Given the description of an element on the screen output the (x, y) to click on. 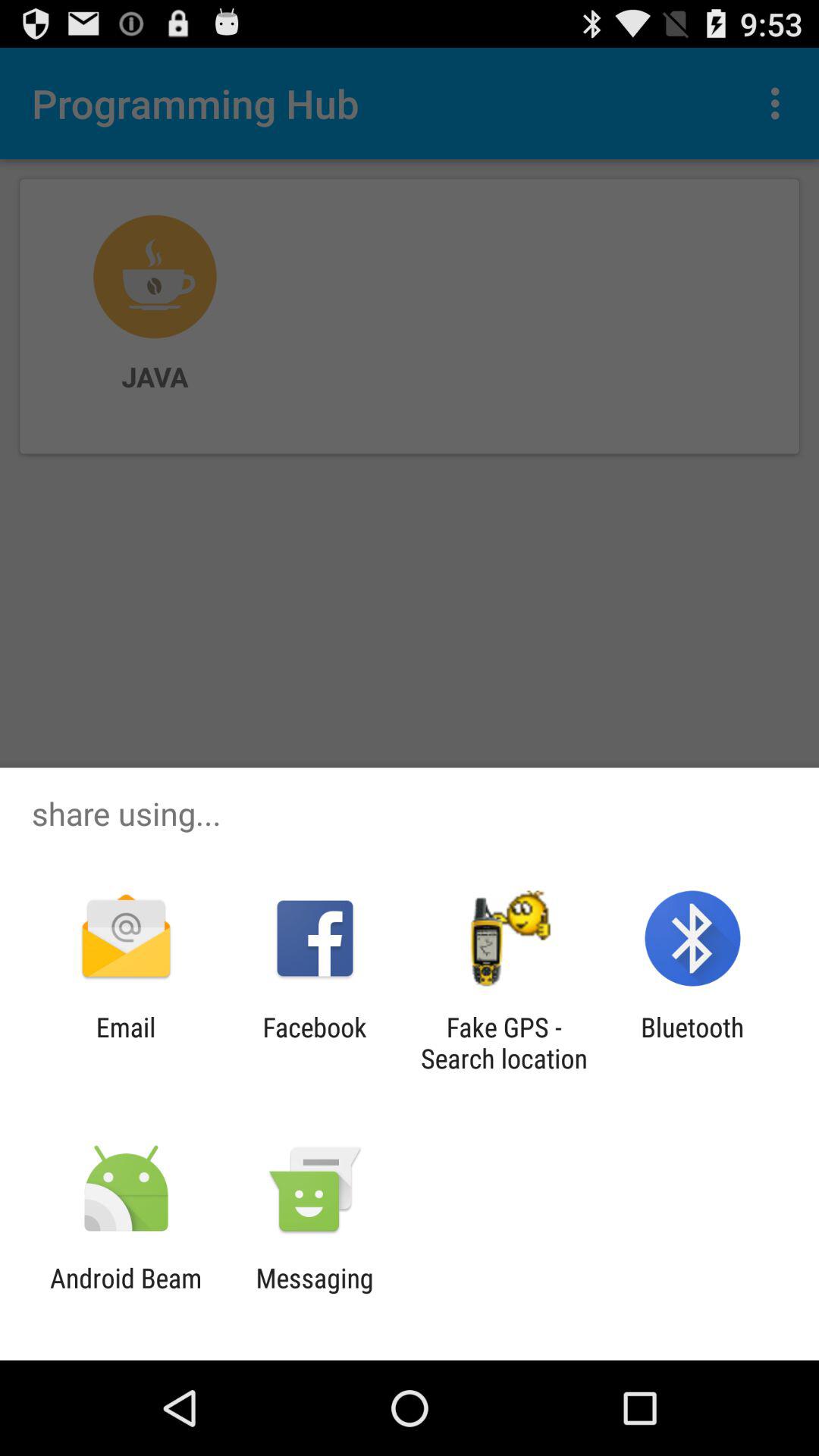
select the app next to the facebook app (503, 1042)
